Given the description of an element on the screen output the (x, y) to click on. 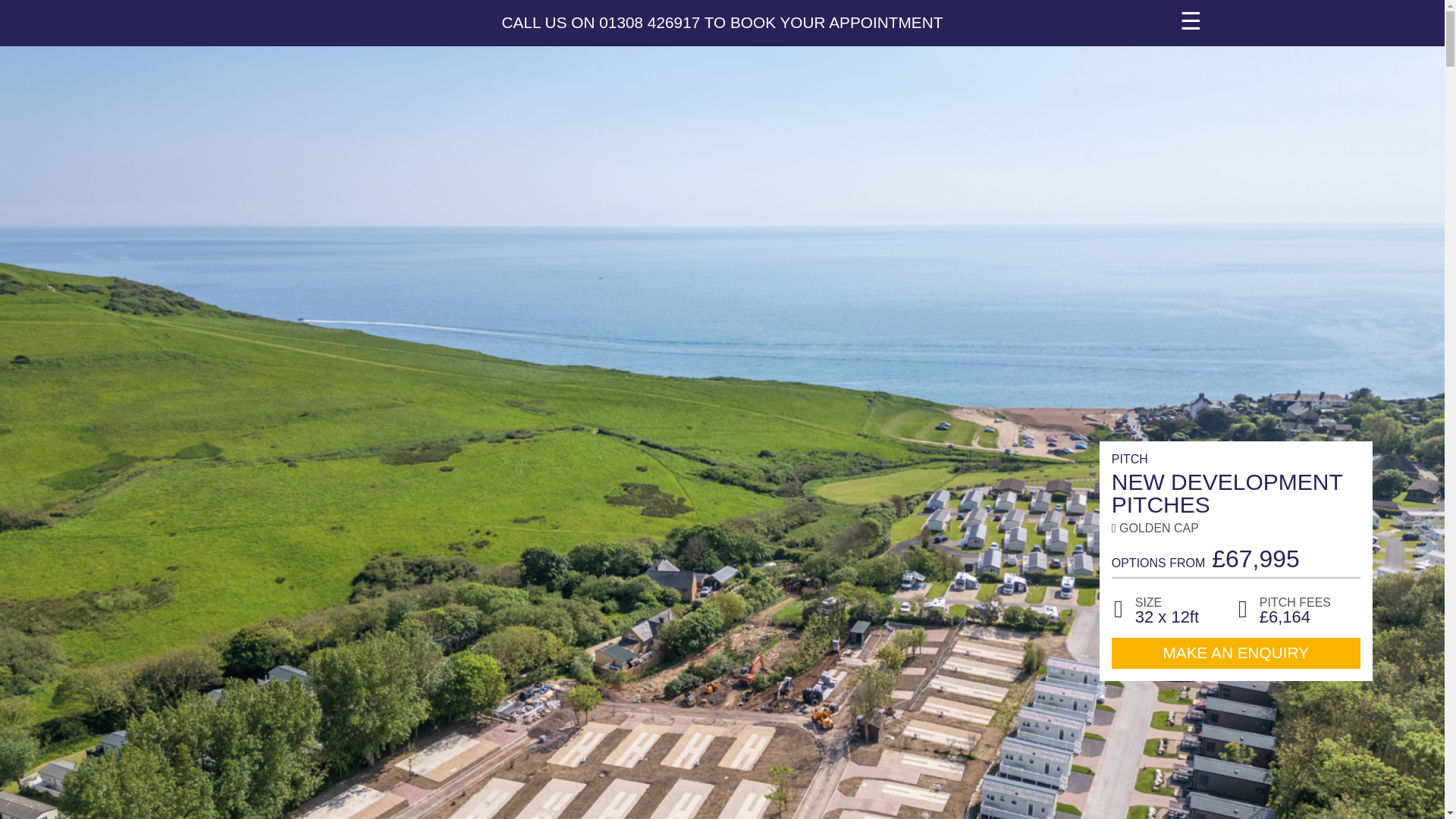
MAKE AN ENQUIRY (1235, 653)
